Given the description of an element on the screen output the (x, y) to click on. 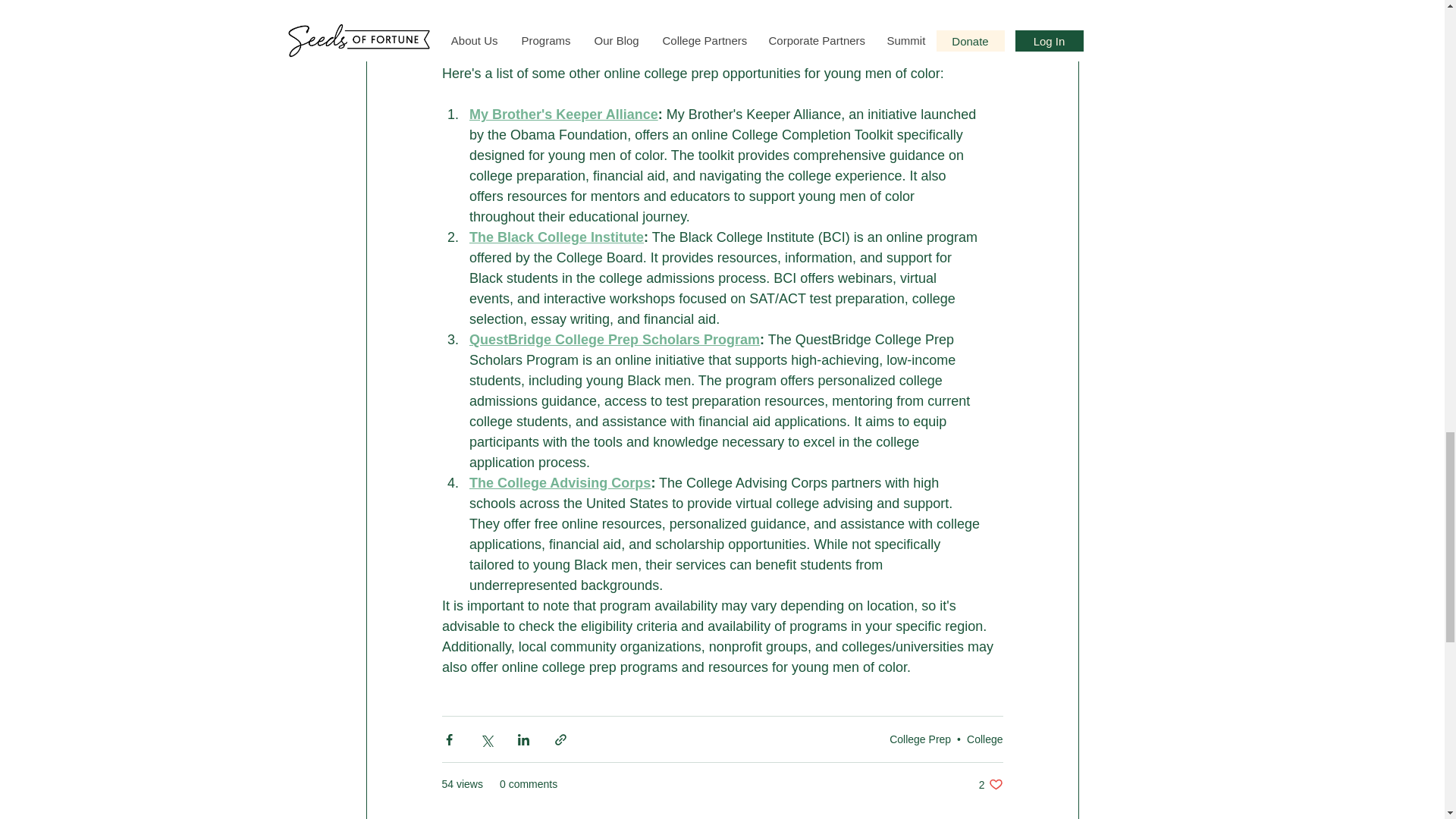
The Black College Institute (555, 237)
College Prep (990, 784)
QuestBridge College Prep Scholars Program (919, 738)
The College Advising Corps (613, 339)
College (558, 482)
My Brother's Keeper Alliance (984, 738)
